Given the description of an element on the screen output the (x, y) to click on. 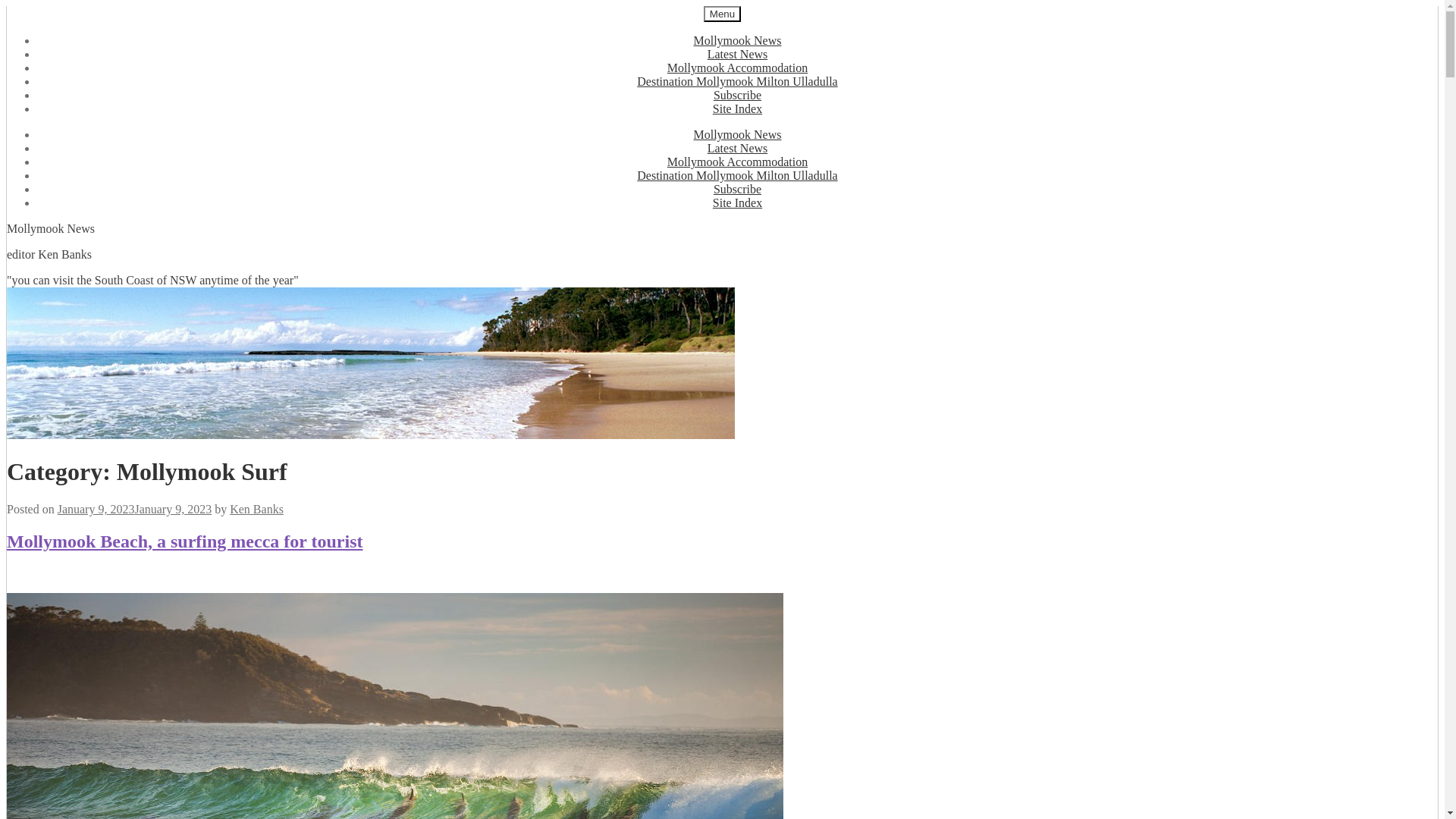
Mollymook Accommodation Element type: text (737, 67)
Mollymook Accommodation Element type: text (737, 161)
Site Index Element type: text (737, 108)
Destination Mollymook Milton Ulladulla Element type: text (737, 175)
Latest News Element type: text (737, 53)
Destination Mollymook Milton Ulladulla Element type: text (737, 81)
Menu Element type: text (721, 13)
Mollymook News Element type: text (737, 134)
Subscribe Element type: text (737, 94)
Mollymook News Element type: text (737, 40)
Mollymook Beach, a surfing mecca for tourist Element type: text (184, 541)
January 9, 2023January 9, 2023 Element type: text (134, 508)
Ken Banks Element type: text (256, 508)
Site Index Element type: text (737, 202)
Subscribe Element type: text (737, 188)
Latest News Element type: text (737, 147)
